Given the description of an element on the screen output the (x, y) to click on. 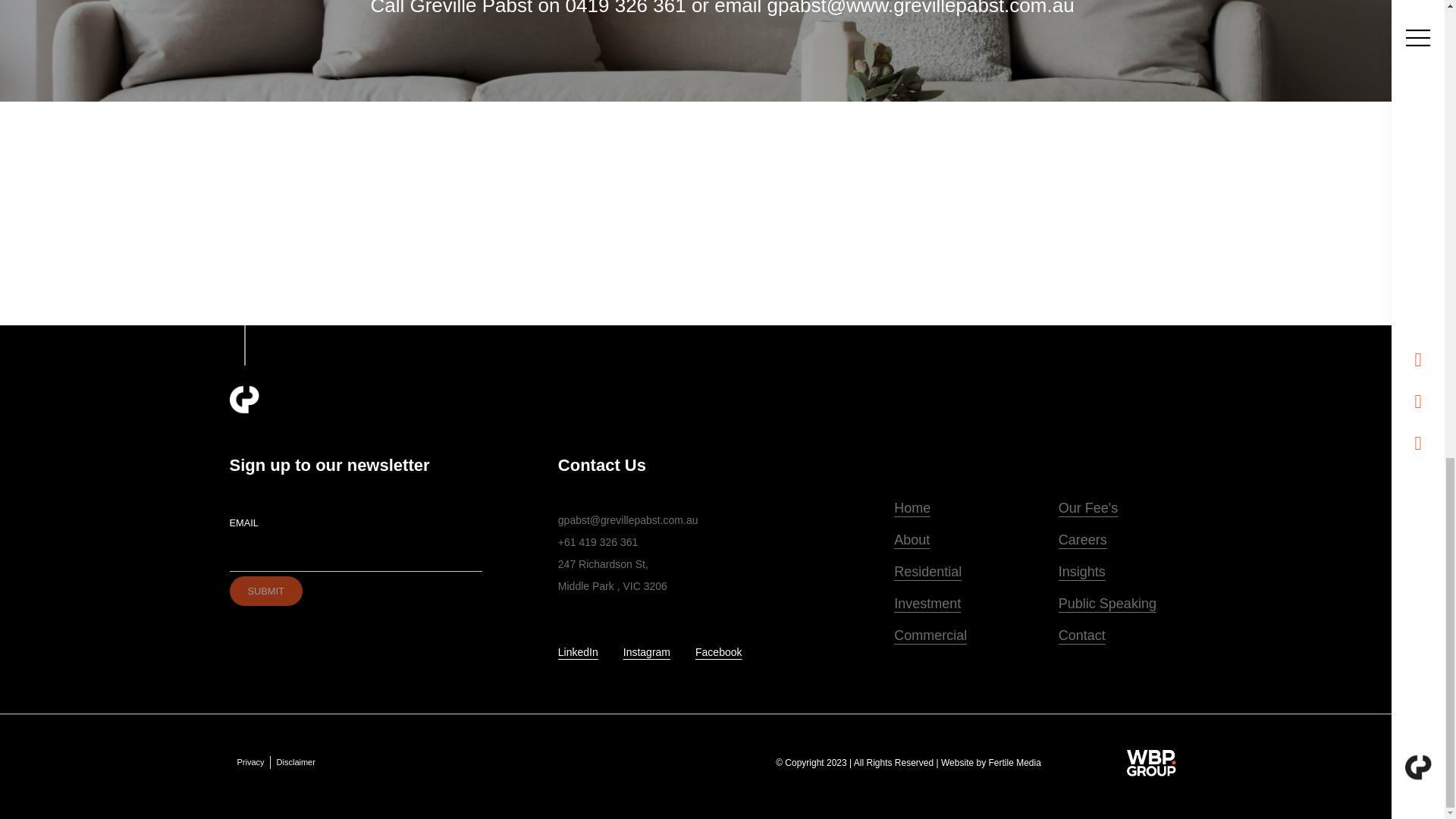
LinkedIn (577, 652)
Home (968, 507)
Insights (1133, 571)
Residential (968, 571)
Careers (1133, 539)
Submit (264, 591)
Commercial (968, 635)
Submit (264, 591)
Privacy (249, 762)
Investment (968, 603)
Our Fee's (1133, 507)
Disclaimer (295, 762)
Public Speaking (1133, 603)
Instagram (646, 652)
About (968, 539)
